Given the description of an element on the screen output the (x, y) to click on. 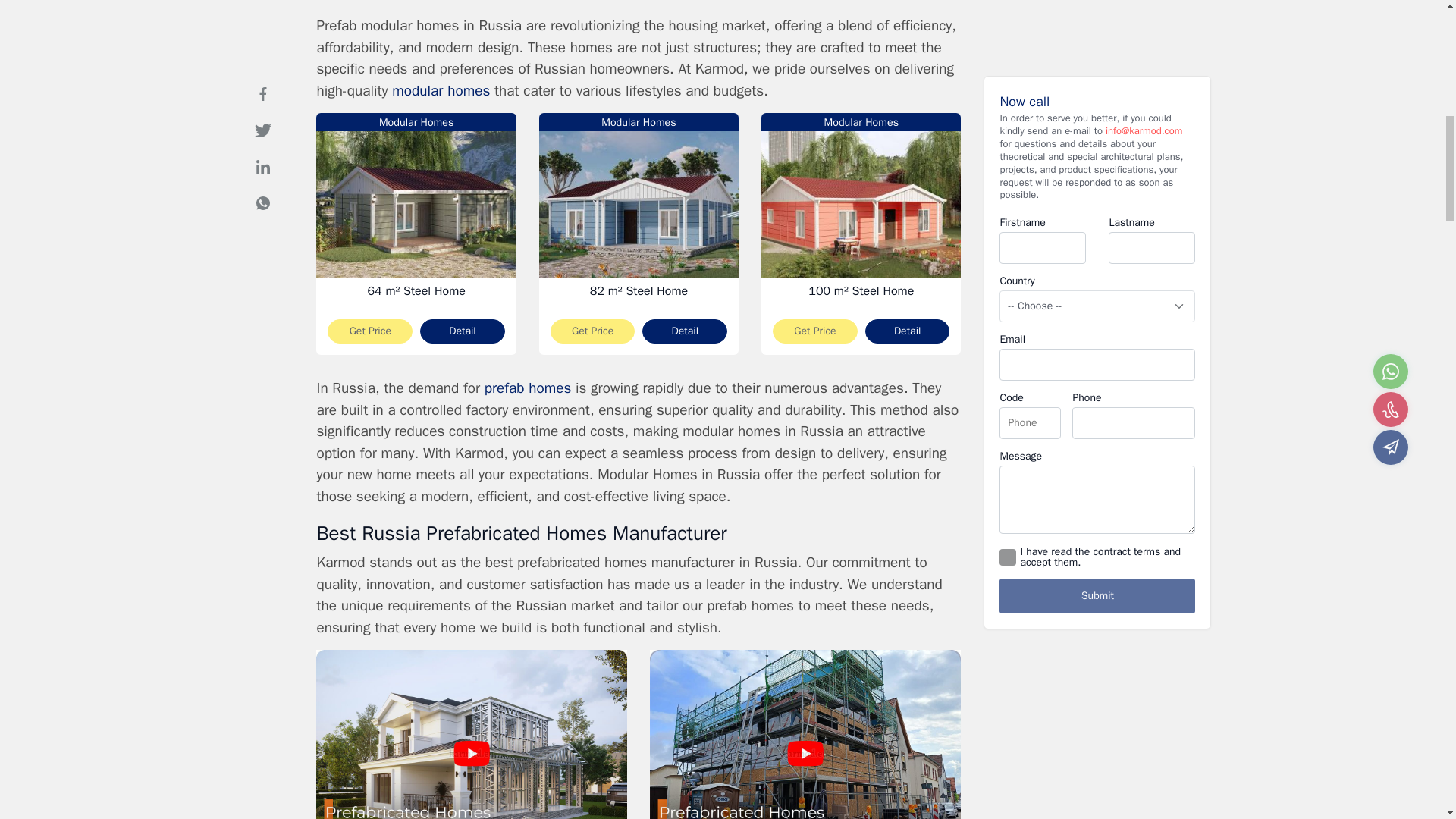
Prefab Homes for Sale (528, 388)
Twitter (262, 69)
Whatsapp (262, 142)
Modular Homes for Sale (418, 90)
Facebook (262, 33)
on (1007, 496)
Linkedin (262, 105)
Modular Homes For Sale (467, 90)
